Given the description of an element on the screen output the (x, y) to click on. 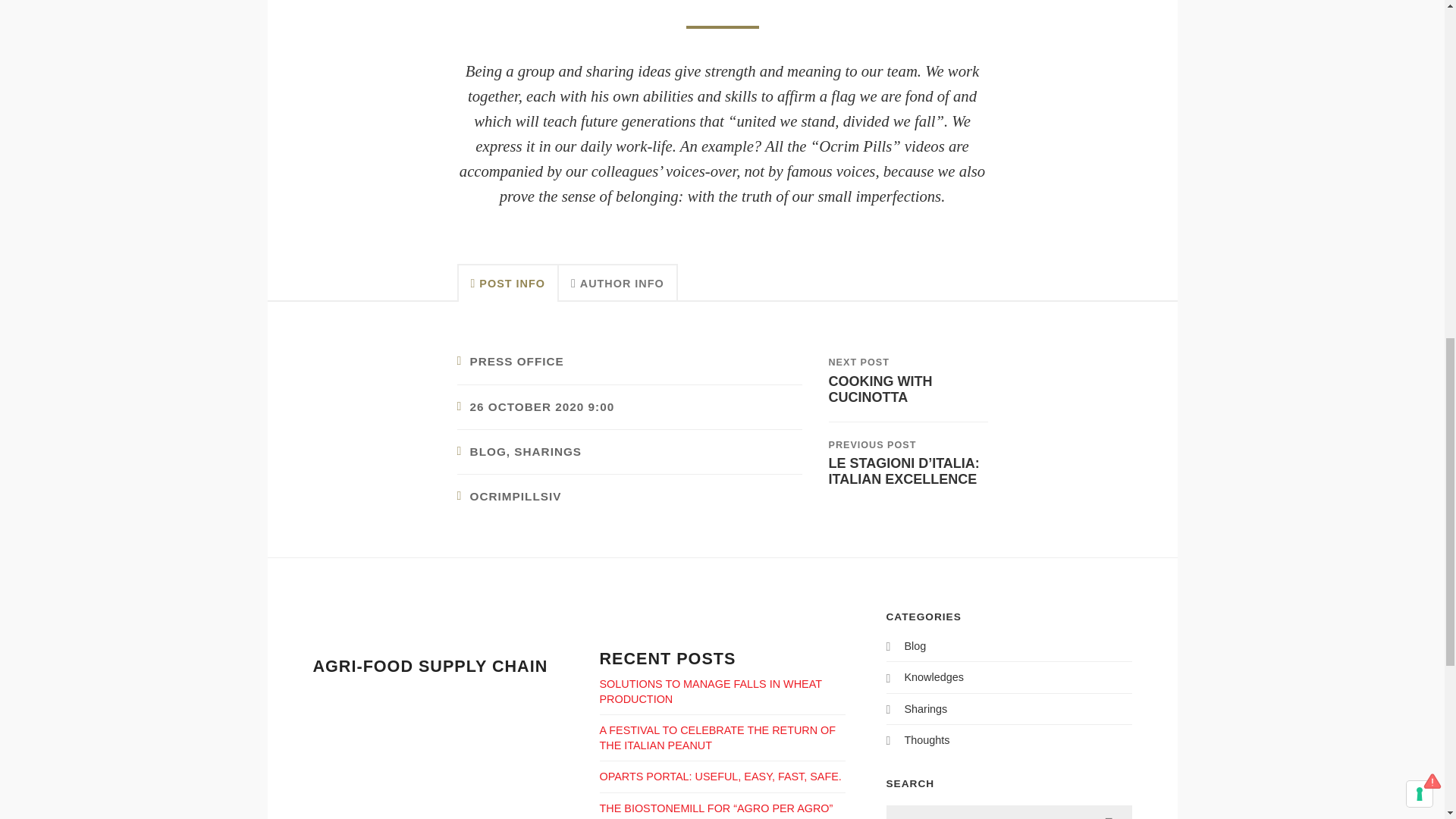
AUTHOR INFO (618, 282)
SOLUTIONS TO MANAGE FALLS IN WHEAT PRODUCTION (709, 691)
Posts by Press Office (517, 360)
PRESS OFFICE (517, 360)
A FESTIVAL TO CELEBRATE THE RETURN OF THE ITALIAN PEANUT (716, 737)
Search (1108, 812)
Search (1108, 812)
OPARTS PORTAL: USEFUL, EASY, FAST, SAFE. (719, 776)
BLOG (488, 451)
SHARINGS (546, 451)
OCRIMPILLSIV (516, 495)
POST INFO (507, 282)
26 OCTOBER 2020 9:00 (542, 406)
